Given the description of an element on the screen output the (x, y) to click on. 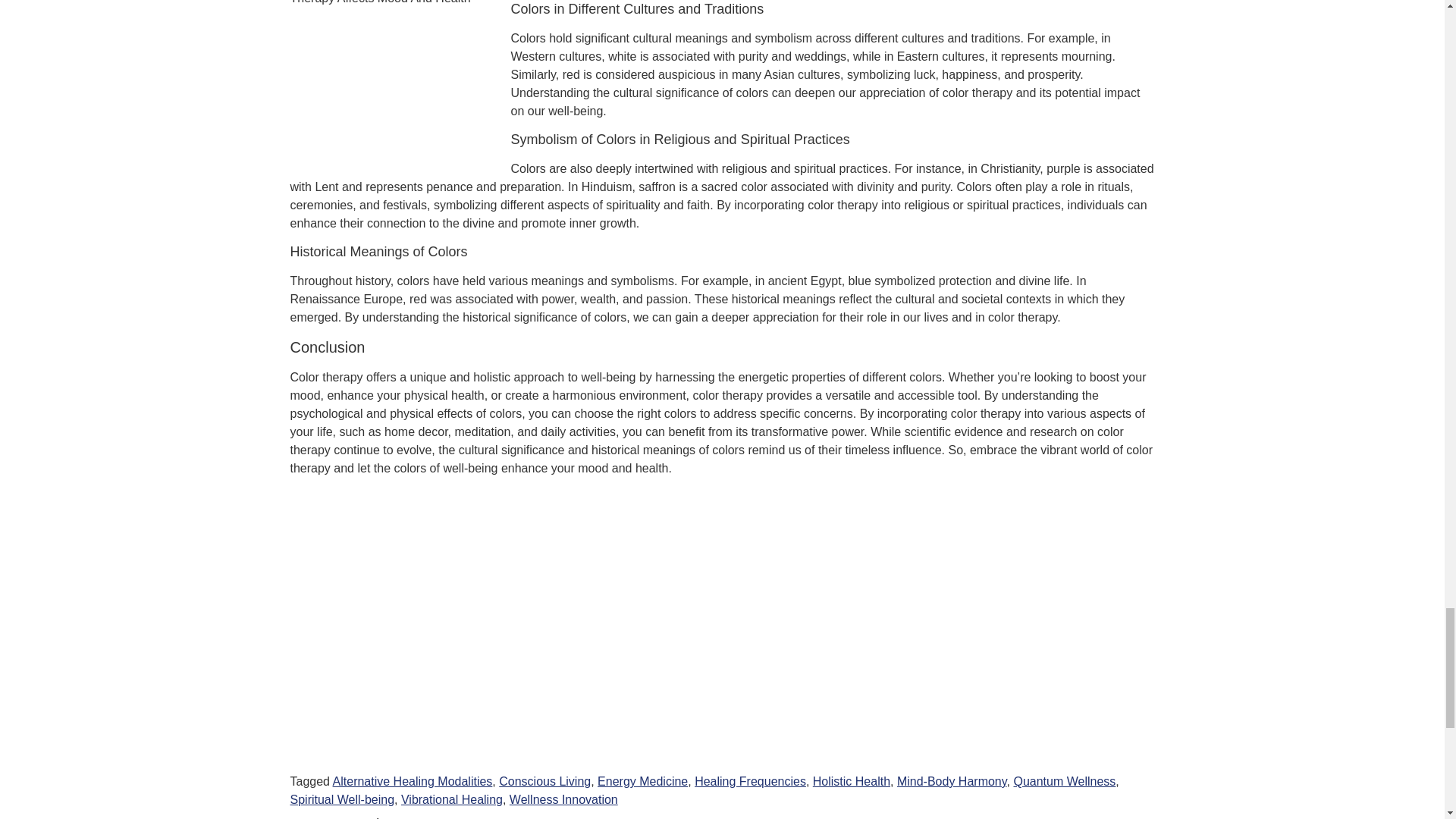
YouTube video player (501, 636)
Holistic Health (850, 780)
Healing Frequencies (750, 780)
Wellness Innovation (563, 799)
Conscious Living (545, 780)
Energy Medicine (641, 780)
Alternative Healing Modalities (413, 780)
Spiritual Well-being (341, 799)
Quantum Wellness (1064, 780)
